Given the description of an element on the screen output the (x, y) to click on. 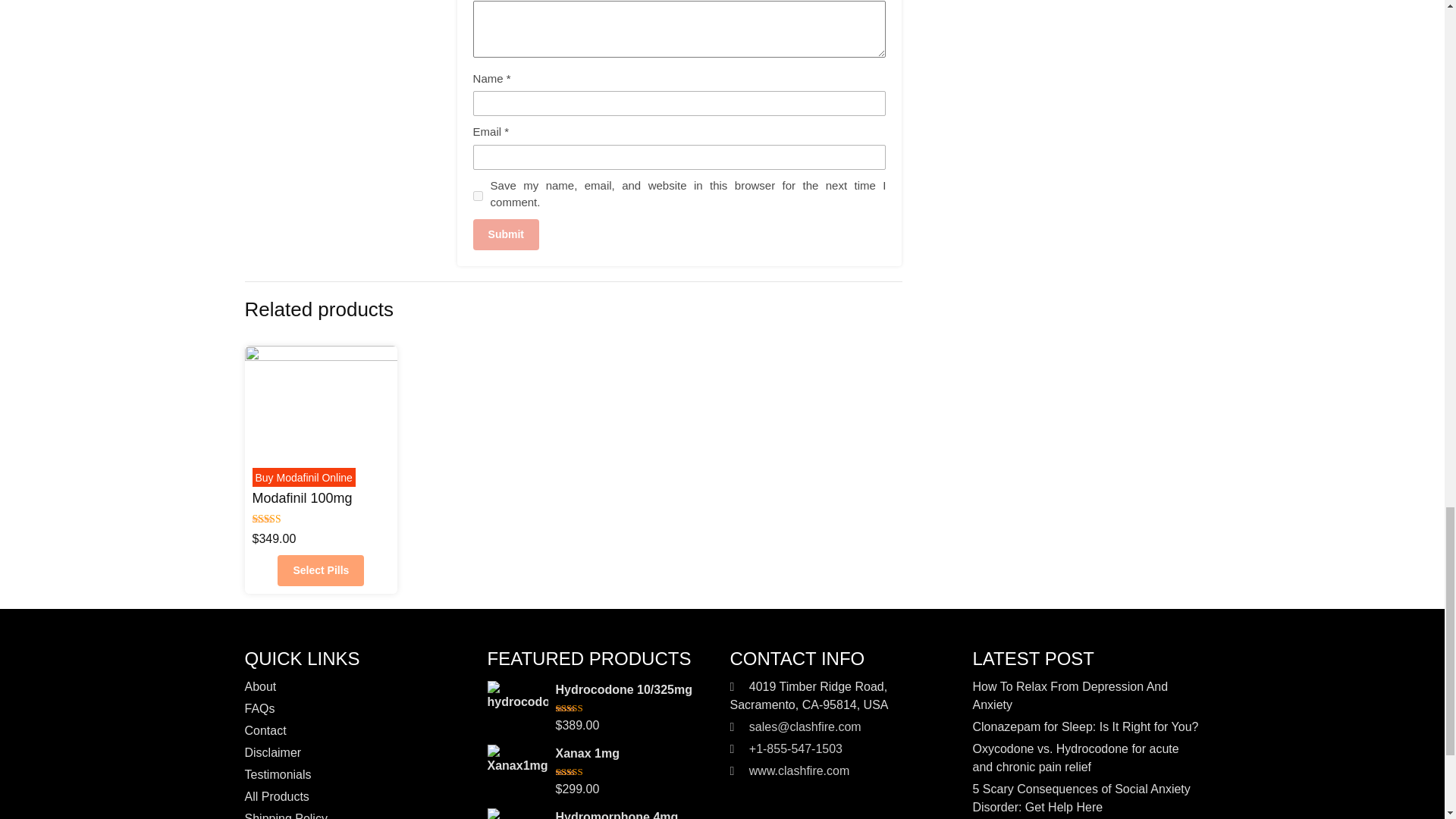
Modafinil 100mg (301, 498)
Select Pills (321, 570)
Submit (505, 234)
Buy Modafinil Online (303, 477)
Submit (505, 234)
